Given the description of an element on the screen output the (x, y) to click on. 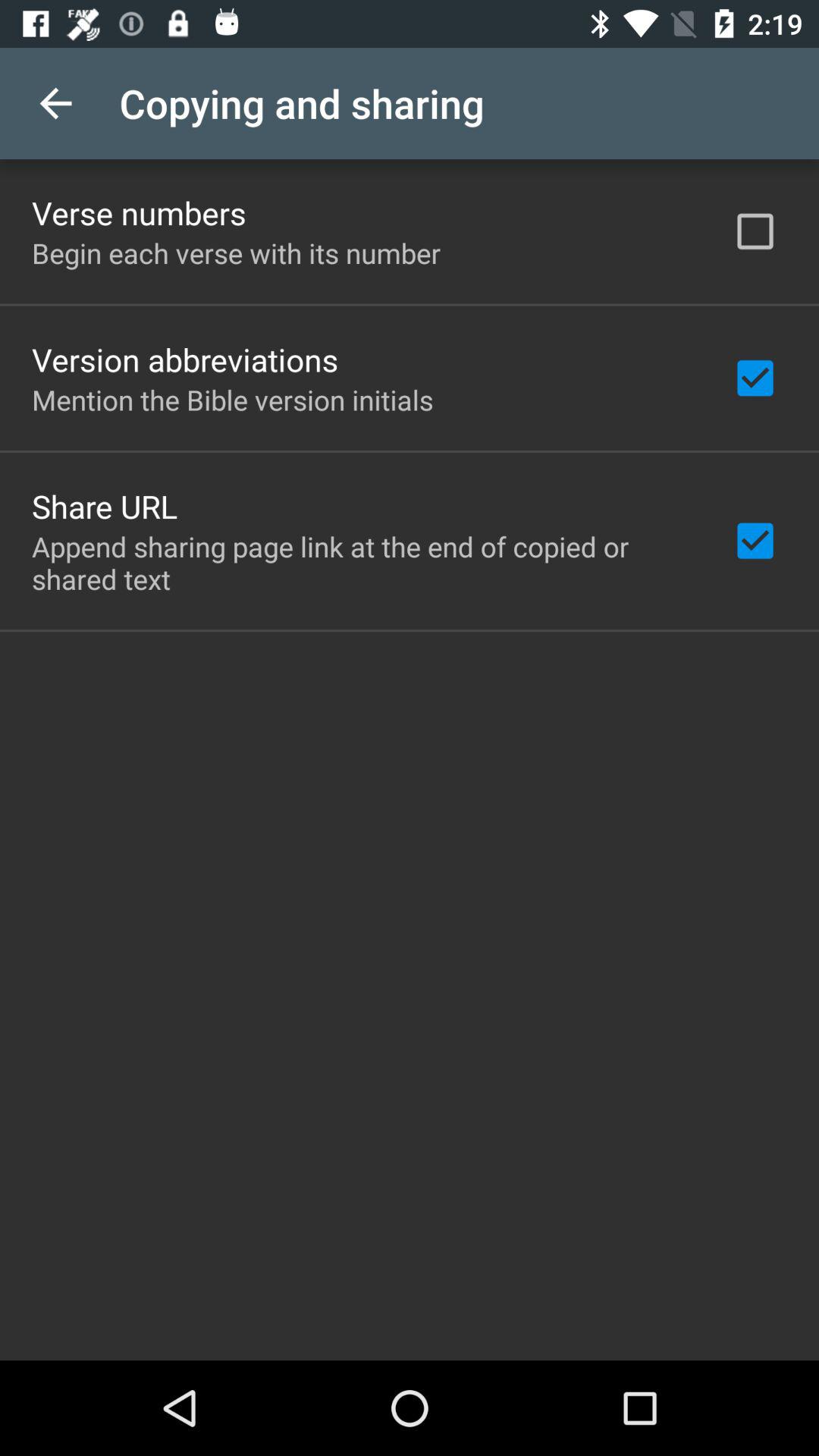
jump to the mention the bible (232, 399)
